Given the description of an element on the screen output the (x, y) to click on. 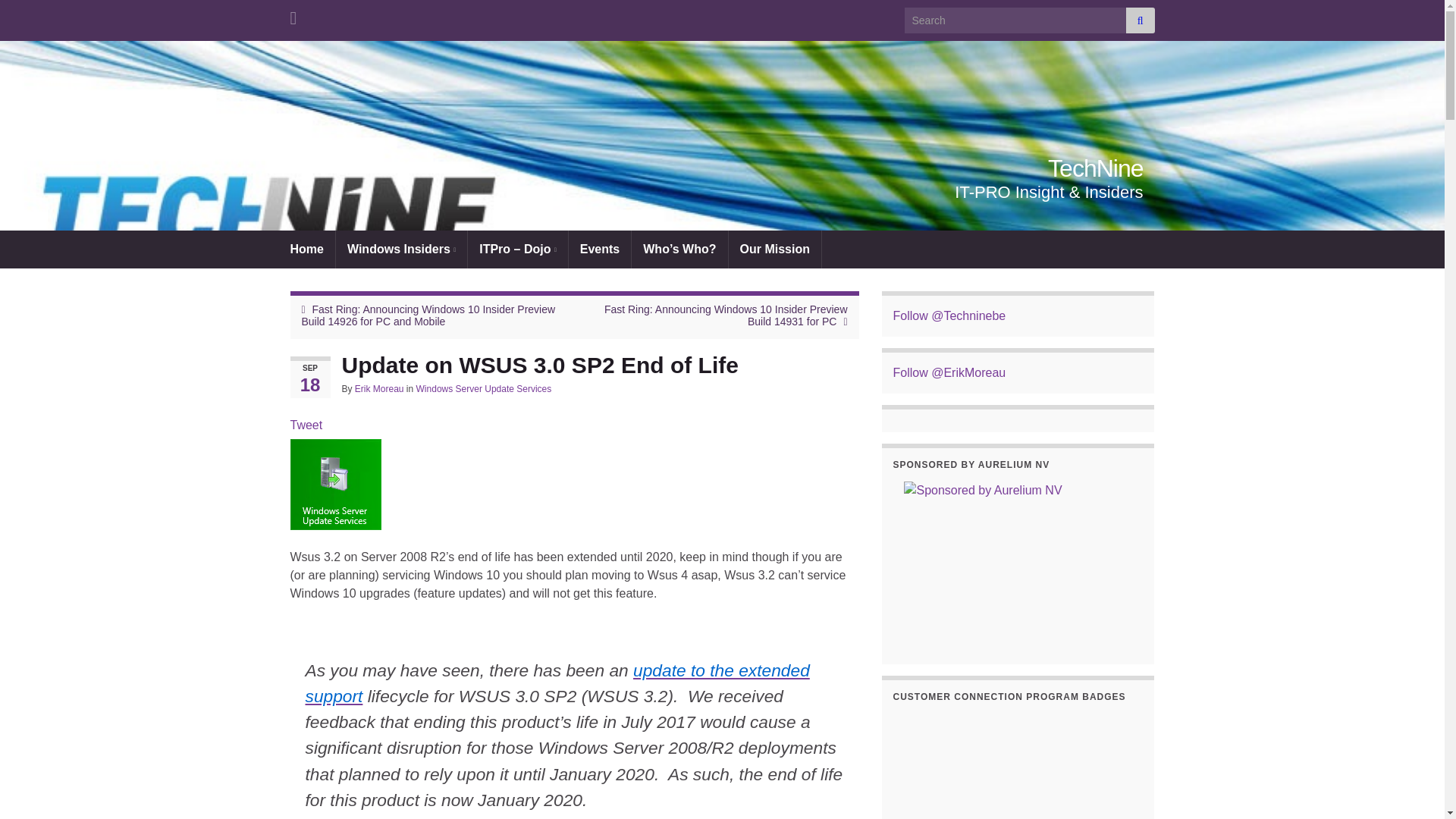
Go back to the front page (1095, 167)
Tweet (305, 424)
Our Mission (775, 249)
Erik Moreau (379, 388)
TechNine (1095, 167)
View my verified achievement on Credly. (953, 766)
Events (599, 249)
Home (306, 249)
Sponsored by Aurelium NV (1017, 560)
Windows Server Update Services (483, 388)
update to the extended support (556, 682)
View my verified achievement on Credly. (1074, 766)
Windows Insiders (401, 249)
